Given the description of an element on the screen output the (x, y) to click on. 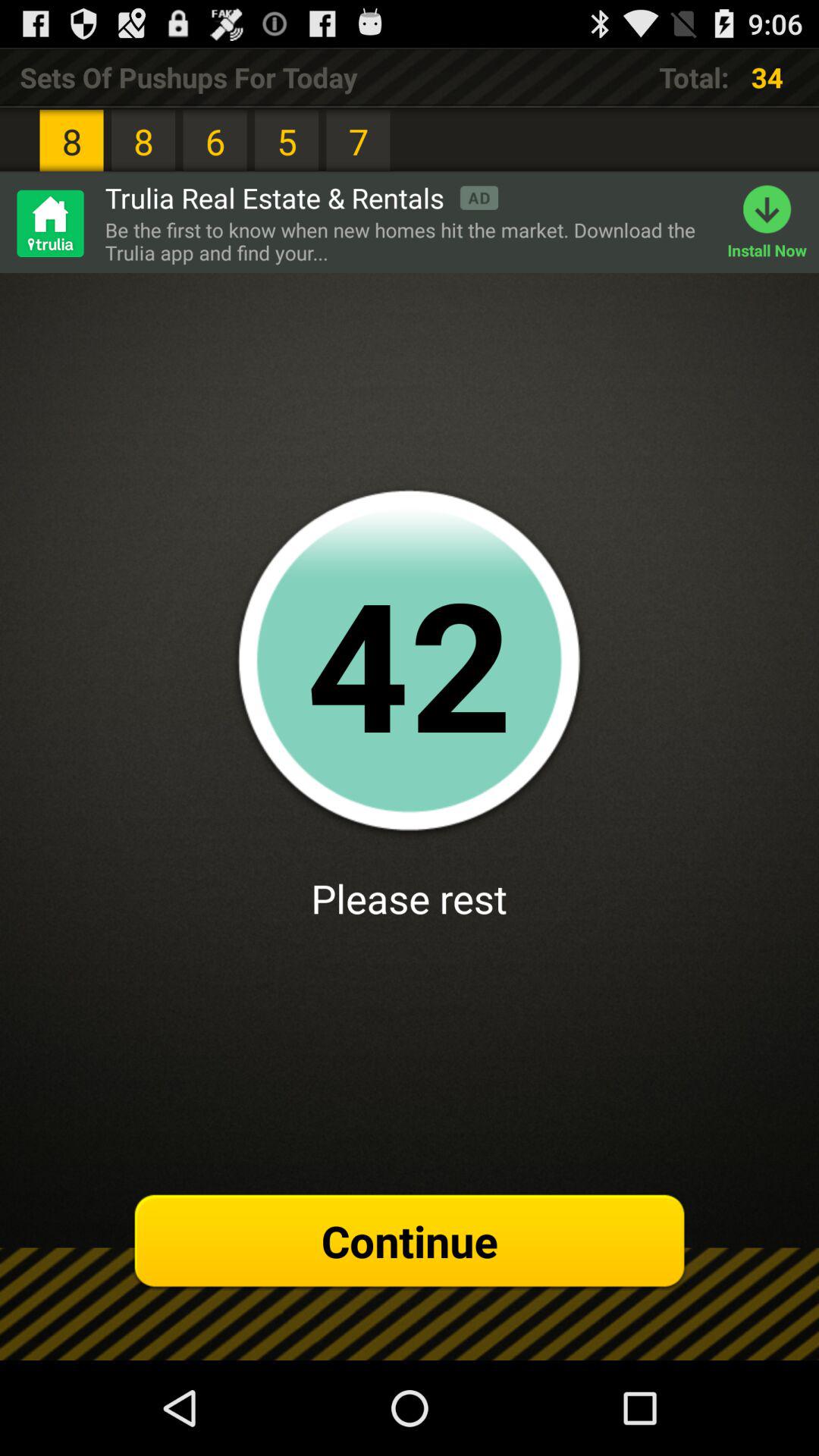
click trulia real estate (301, 197)
